Given the description of an element on the screen output the (x, y) to click on. 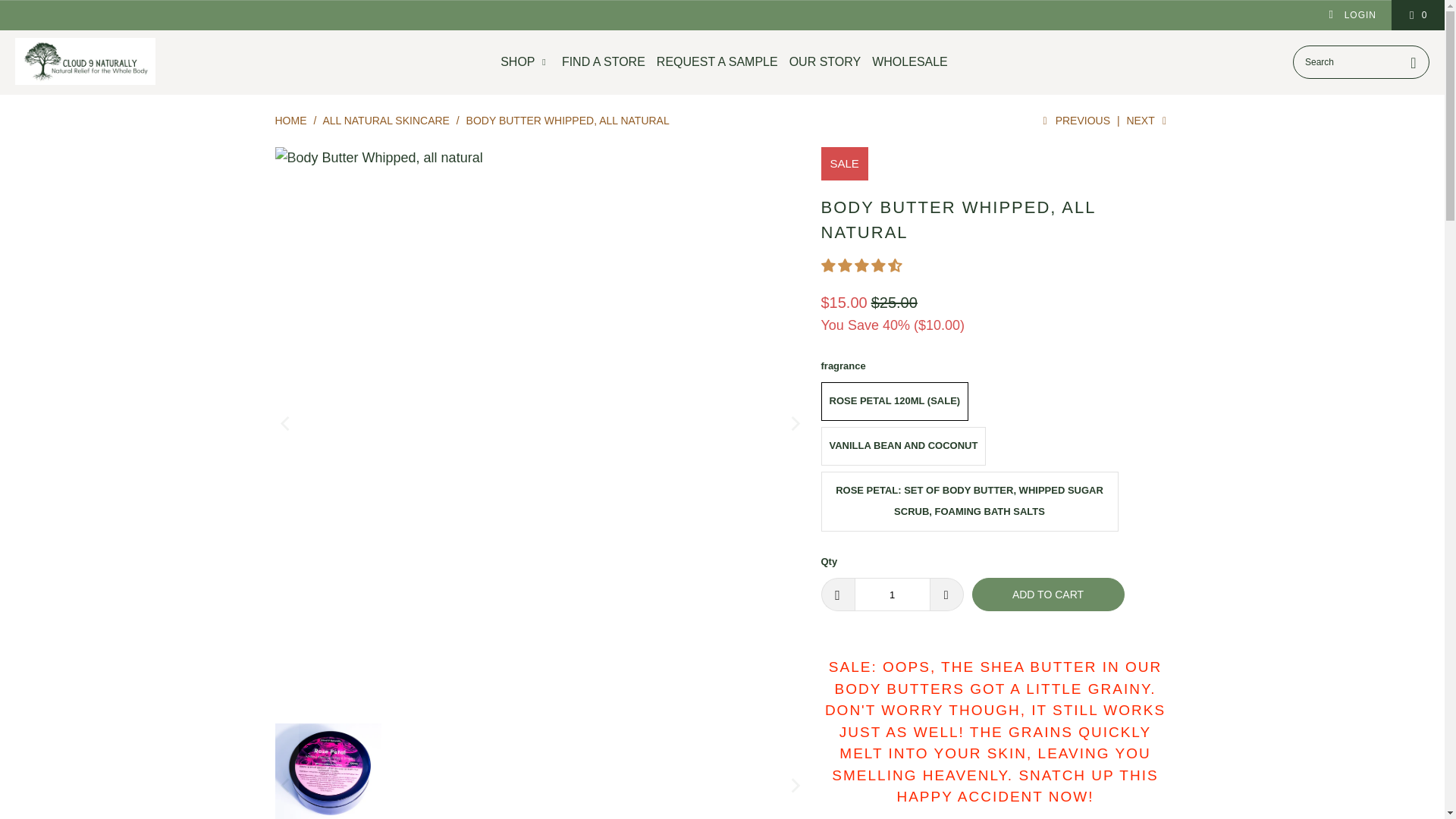
1 (891, 594)
Cloud 9 Naturally (84, 61)
Next (1147, 120)
Cloud 9 Naturally (290, 120)
Previous (1073, 120)
My Account  (1351, 15)
All Natural Skincare (385, 120)
